Given the description of an element on the screen output the (x, y) to click on. 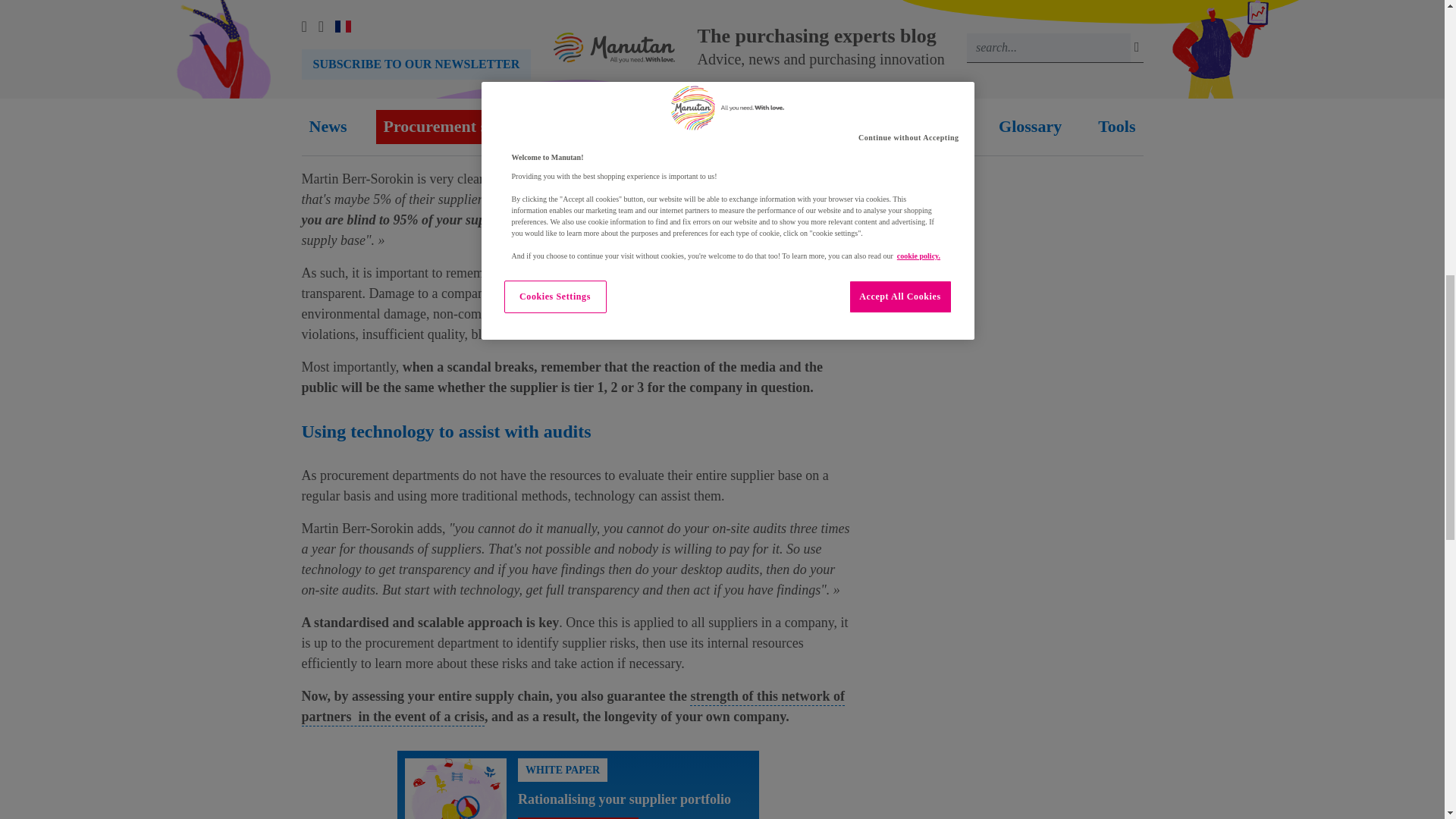
DOWNLOAD (578, 818)
Follow us on LinkedIn (1010, 37)
